Given the description of an element on the screen output the (x, y) to click on. 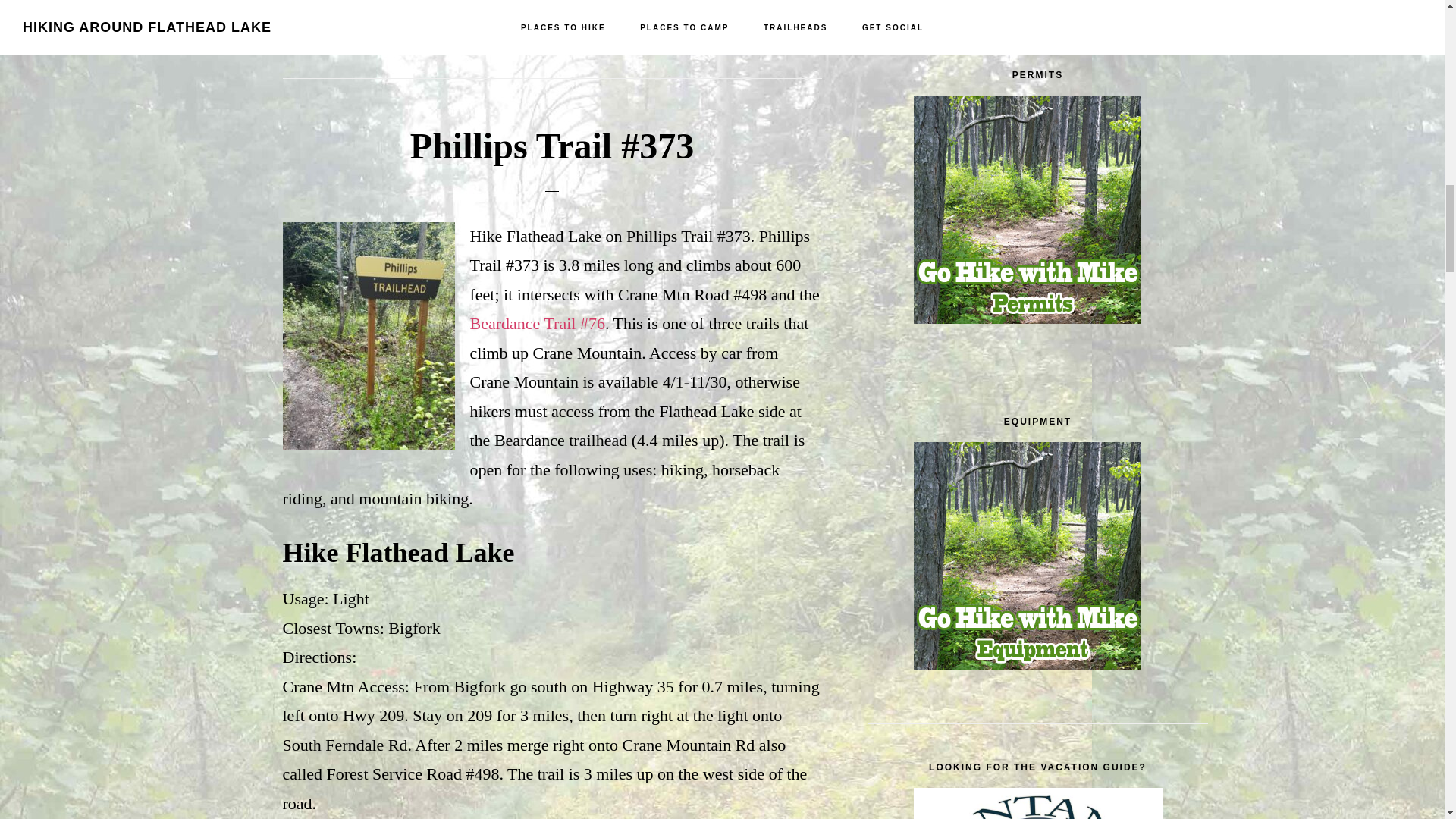
Trail Heads (548, 0)
hiking (442, 18)
Bigfork (391, 18)
Bigfork (386, 0)
Swan Front (504, 18)
trail heads (578, 18)
